Given the description of an element on the screen output the (x, y) to click on. 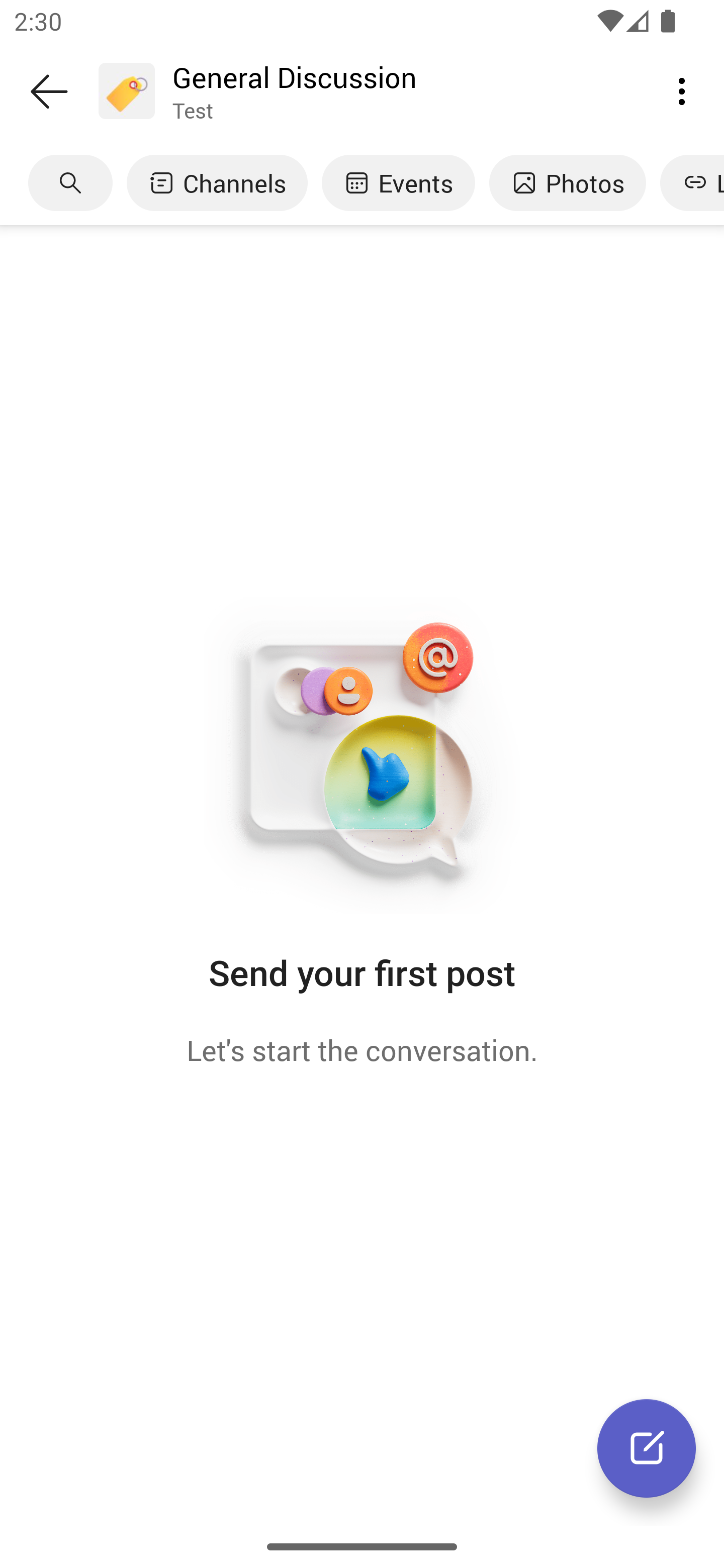
Back (49, 91)
More options (681, 90)
Search tab, 1 of 6 (70, 183)
Channels tab, 2 of 6 Channels (216, 183)
Events tab, 3 of 6 Events (397, 183)
Photos tab, 4 of 6 Photos (567, 183)
New conversation (646, 1447)
